Given the description of an element on the screen output the (x, y) to click on. 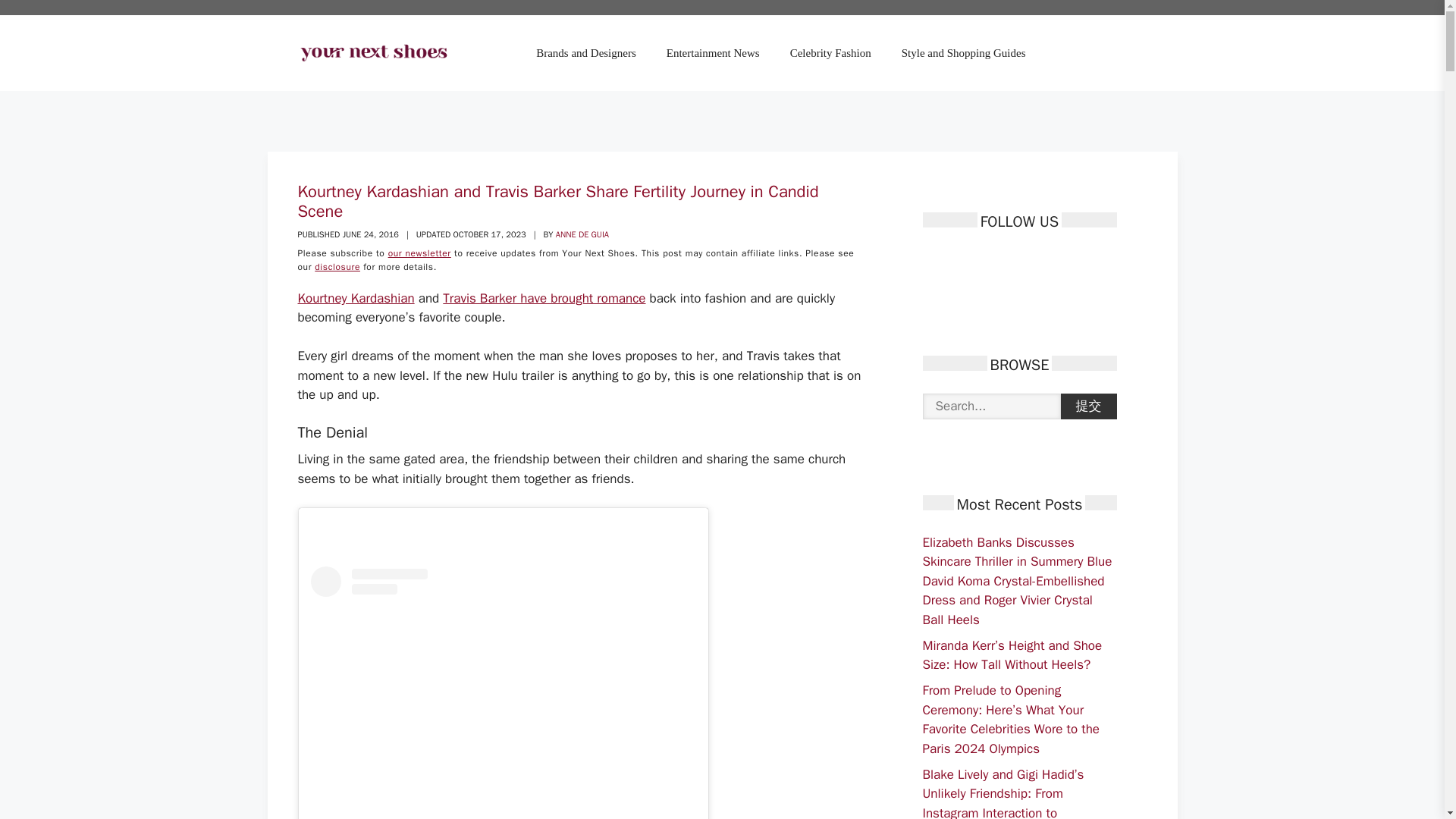
Celebrity Fashion (830, 53)
Instagram (1014, 261)
Style and Shopping Guides (963, 53)
our newsletter (419, 253)
Entertainment News (712, 53)
Pinterest (986, 261)
Facebook (932, 261)
disclosure (336, 266)
Kourtney Kardashian (355, 298)
ANNE DE GUIA (582, 234)
